Given the description of an element on the screen output the (x, y) to click on. 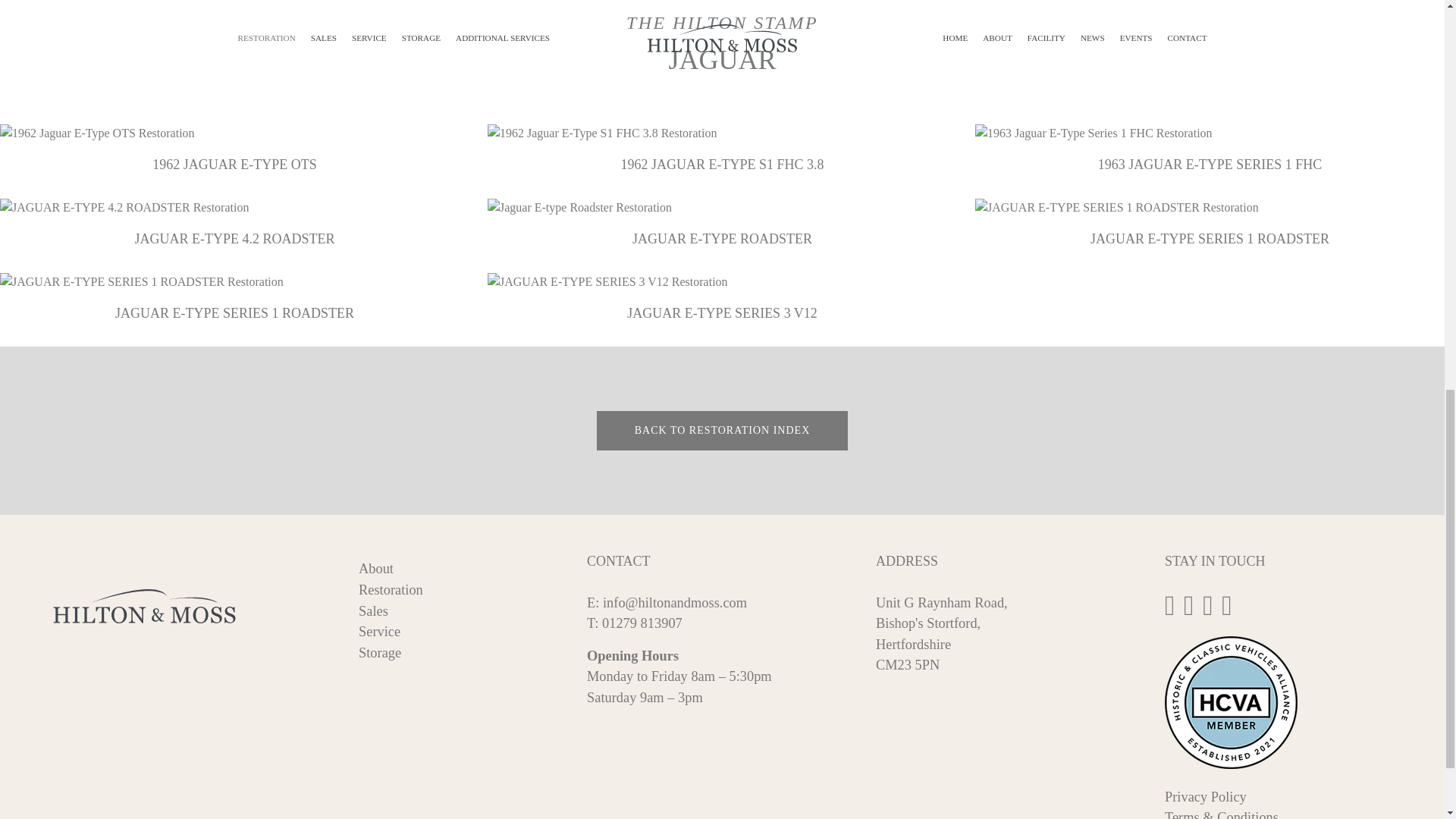
JAGUAR E-TYPE ROADSTER (721, 223)
1962 JAGUAR E-TYPE OTS (234, 148)
1962 JAGUAR E-TYPE S1 FHC 3.8 (721, 148)
BACK TO RESTORATION INDEX (722, 430)
JAGUAR E-TYPE SERIES 1 ROADSTER (234, 297)
About (375, 568)
Restoration (390, 589)
JAGUAR E-TYPE SERIES 3 V12 (721, 297)
Sales (373, 611)
JAGUAR E-TYPE 4.2 ROADSTER (234, 223)
